Given the description of an element on the screen output the (x, y) to click on. 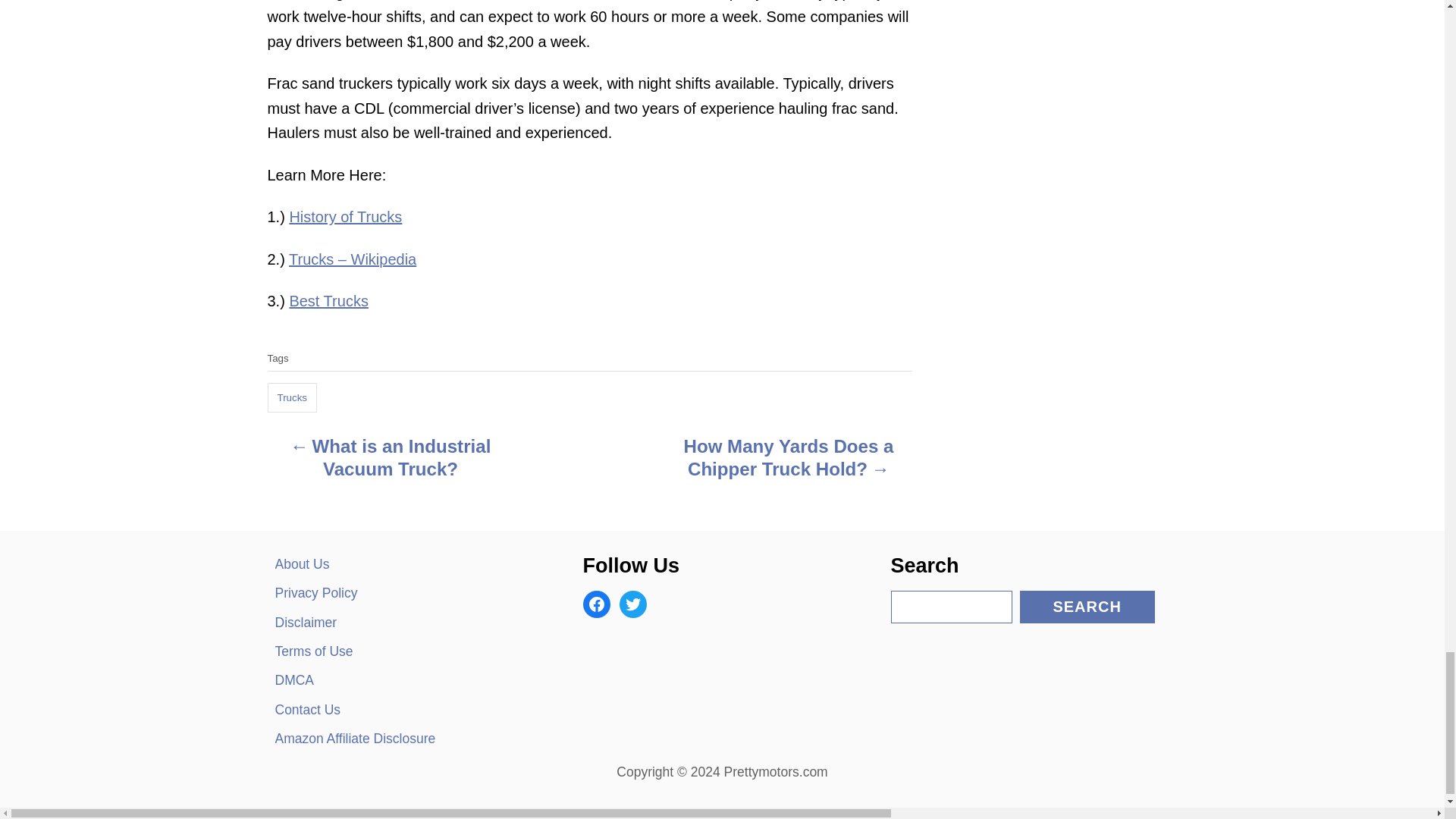
How Many Yards Does a Chipper Truck Hold? (788, 461)
About Us (406, 563)
SEARCH (1087, 605)
History of Trucks (344, 216)
What is an Industrial Vacuum Truck? (389, 461)
Best Trucks (328, 300)
Contact Us (406, 709)
Twitter (632, 603)
DMCA (406, 679)
Amazon Affiliate Disclosure (406, 737)
Facebook (596, 603)
Disclaimer (406, 622)
Trucks (291, 398)
Privacy Policy (406, 592)
Terms of Use (406, 651)
